Given the description of an element on the screen output the (x, y) to click on. 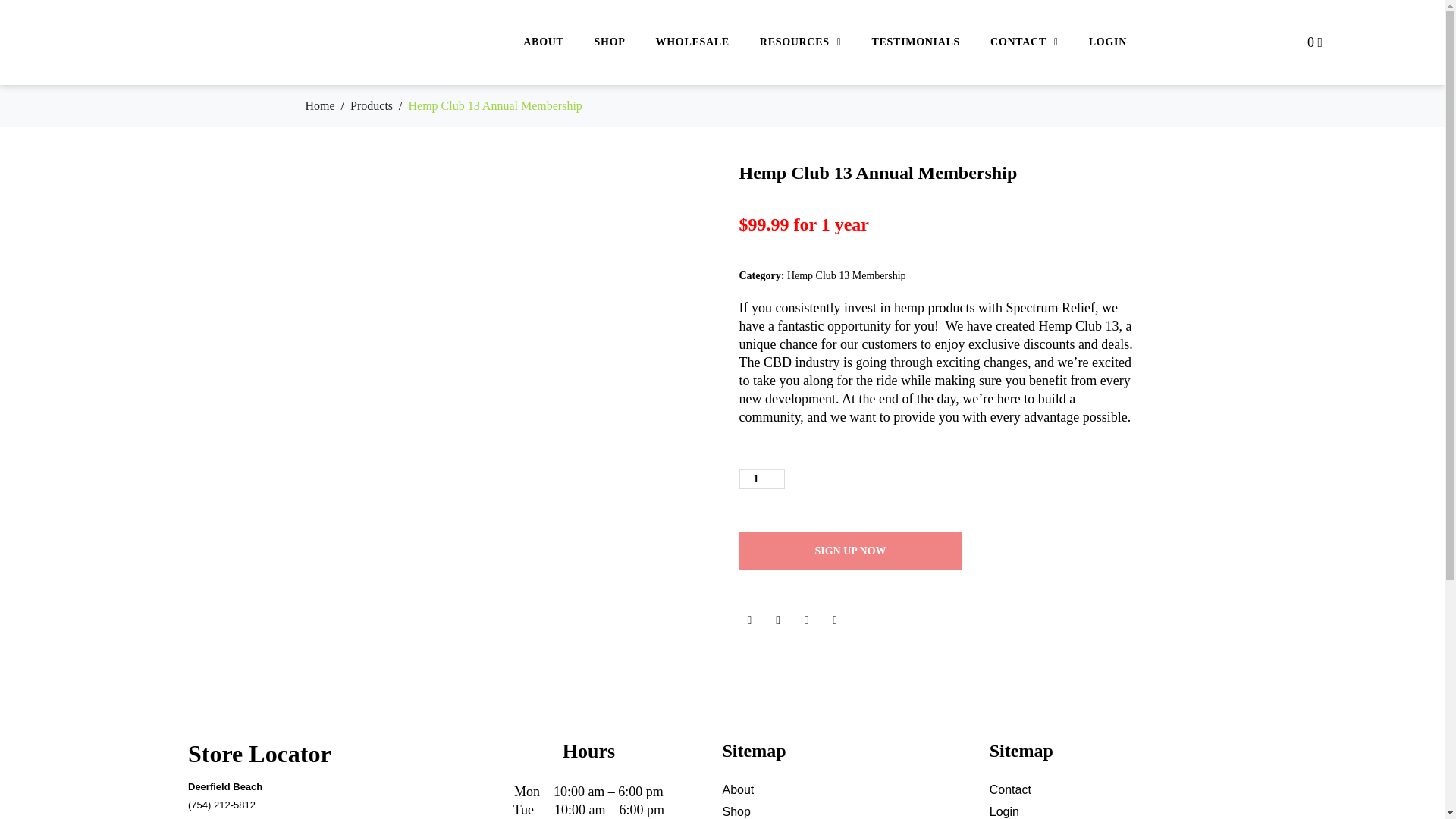
CONTACT (1024, 42)
Products (371, 105)
RESOURCES (800, 42)
Home (319, 105)
LOGIN (1107, 42)
0 (1314, 42)
SIGN UP NOW (849, 550)
TESTIMONIALS (916, 42)
Hemp Club 13 Membership (846, 275)
1 (761, 478)
ABOUT (543, 42)
SHOP (609, 42)
WHOLESALE (692, 42)
